Given the description of an element on the screen output the (x, y) to click on. 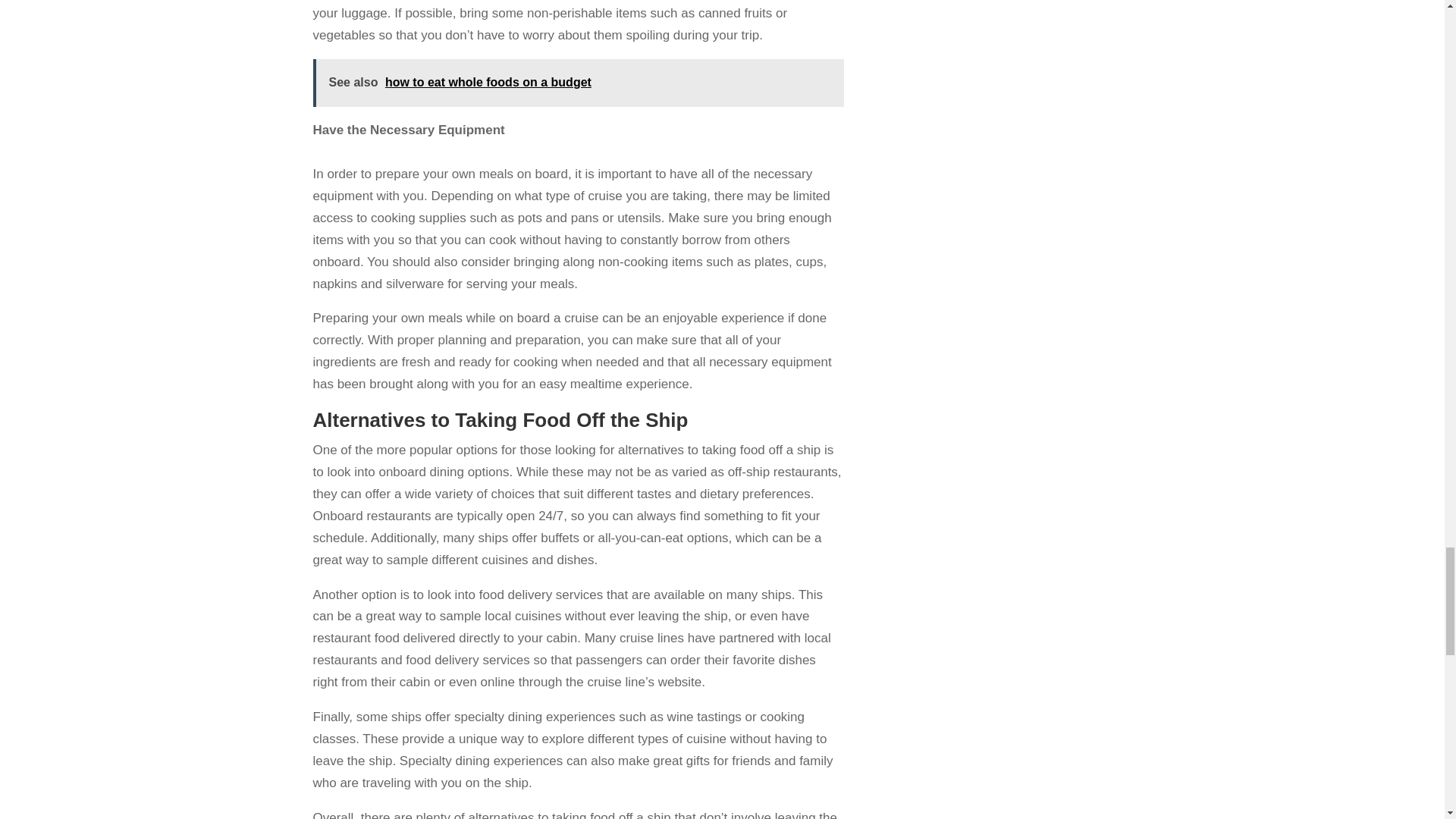
See also  how to eat whole foods on a budget (578, 82)
